Given the description of an element on the screen output the (x, y) to click on. 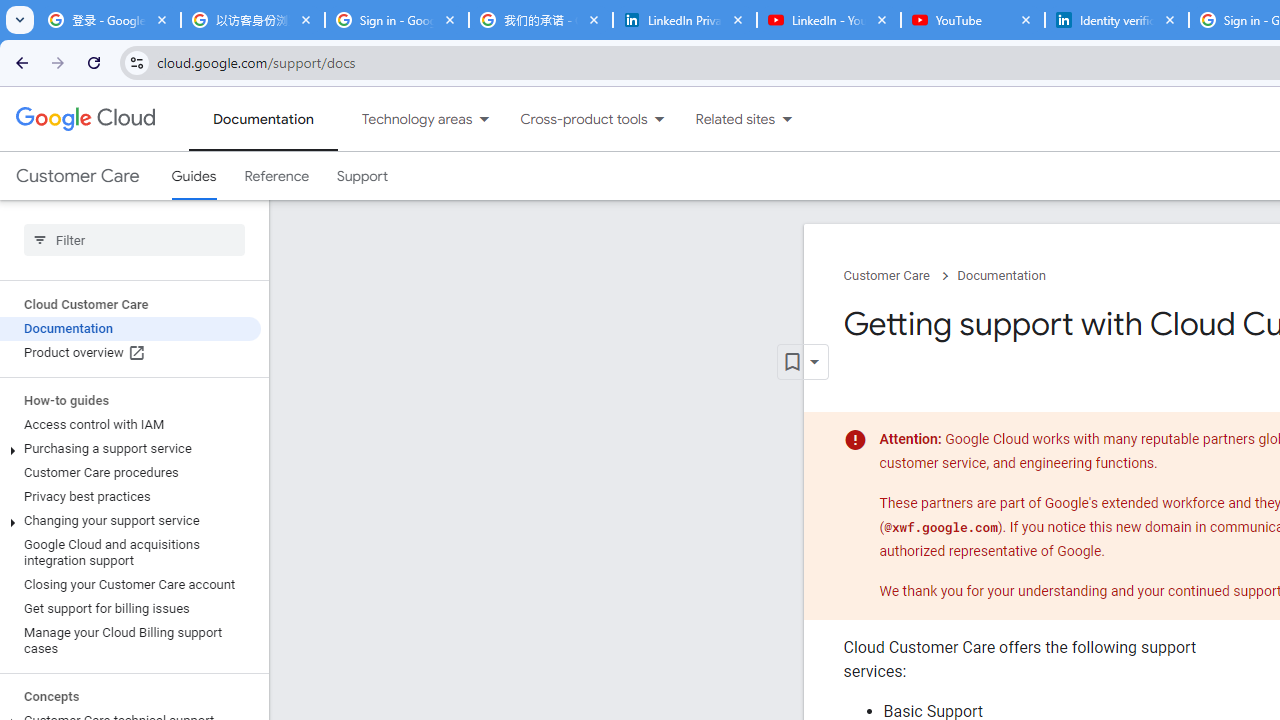
Get support for billing issues (130, 608)
Dropdown menu for Related sites (787, 119)
Guides, selected (193, 175)
Google Cloud (84, 118)
Privacy best practices (130, 497)
Support (362, 175)
Technology areas (404, 119)
Documentation (1001, 276)
YouTube (972, 20)
Purchasing a support service (130, 448)
View site information (136, 62)
Reference (276, 175)
Dropdown menu for Cross-product tools (659, 119)
